Given the description of an element on the screen output the (x, y) to click on. 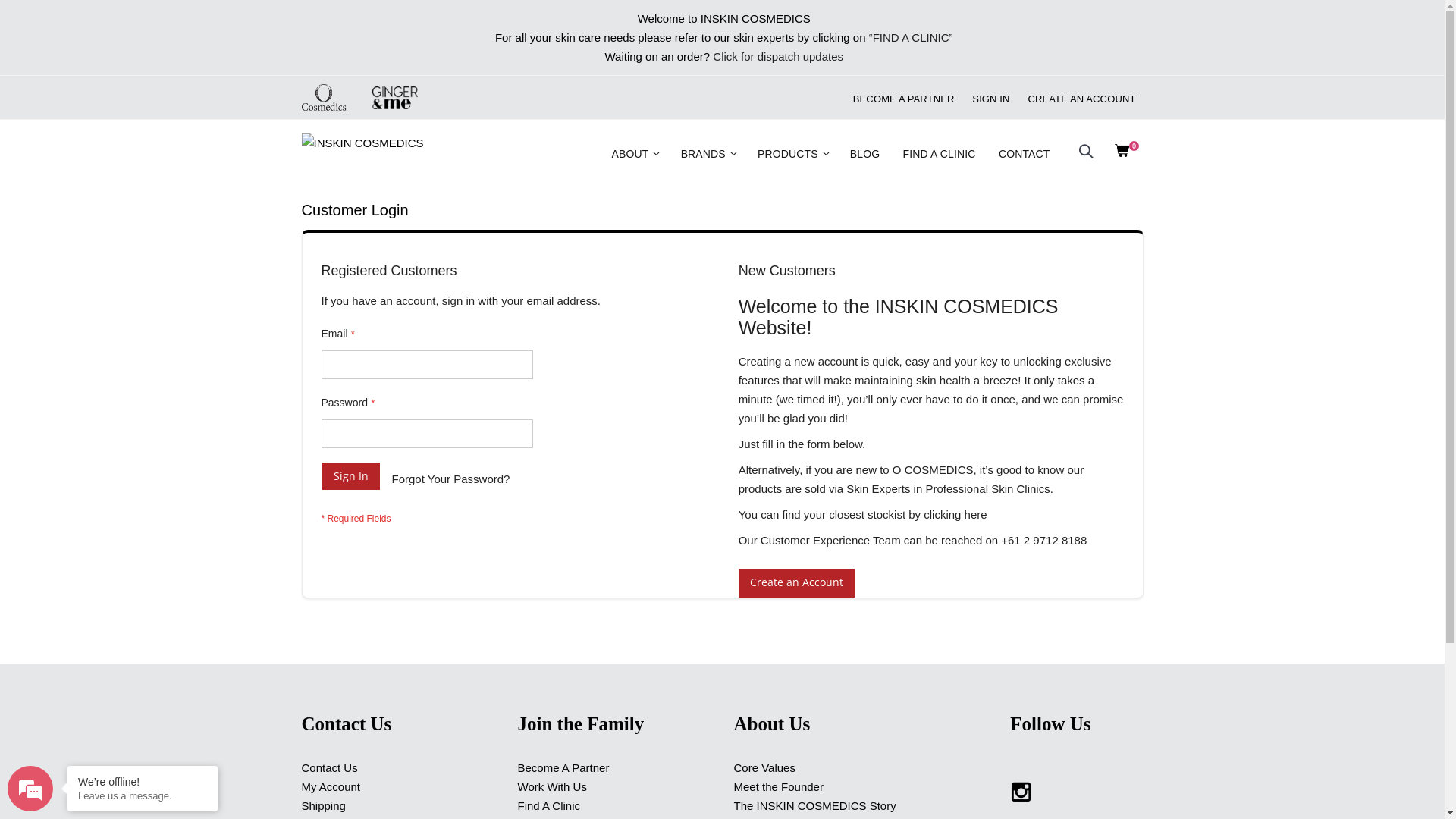
BECOME A PARTNER Element type: text (903, 98)
Find A Clinic Element type: text (548, 805)
CONTACT Element type: text (1024, 153)
Instagram Element type: hover (1021, 790)
ABOUT Element type: text (635, 153)
BLOG Element type: text (864, 153)
Core Values Element type: text (764, 767)
clicking here Element type: text (954, 514)
Click for dispatch updates Element type: text (777, 56)
Email Element type: hover (427, 364)
Forgot Your Password? Element type: text (450, 478)
Meet the Founder Element type: text (778, 786)
Shipping Element type: text (323, 805)
+61 2 9712 8188 Element type: text (1043, 539)
PRODUCTS Element type: text (793, 153)
Work With Us Element type: text (551, 786)
CREATE AN ACCOUNT Element type: text (1080, 98)
Password Element type: hover (427, 433)
INSKIN COSMEDICS Element type: hover (365, 154)
Become A Partner Element type: text (562, 767)
BRANDS Element type: text (708, 153)
Cart
0 Element type: text (1131, 153)
The INSKIN COSMEDICS Story Element type: text (815, 805)
SIGN IN Element type: text (990, 98)
Create an Account Element type: text (796, 582)
Sign In Element type: text (350, 475)
Contact Us Element type: text (329, 767)
FIND A CLINIC Element type: text (939, 153)
My Account Element type: text (330, 786)
